Given the description of an element on the screen output the (x, y) to click on. 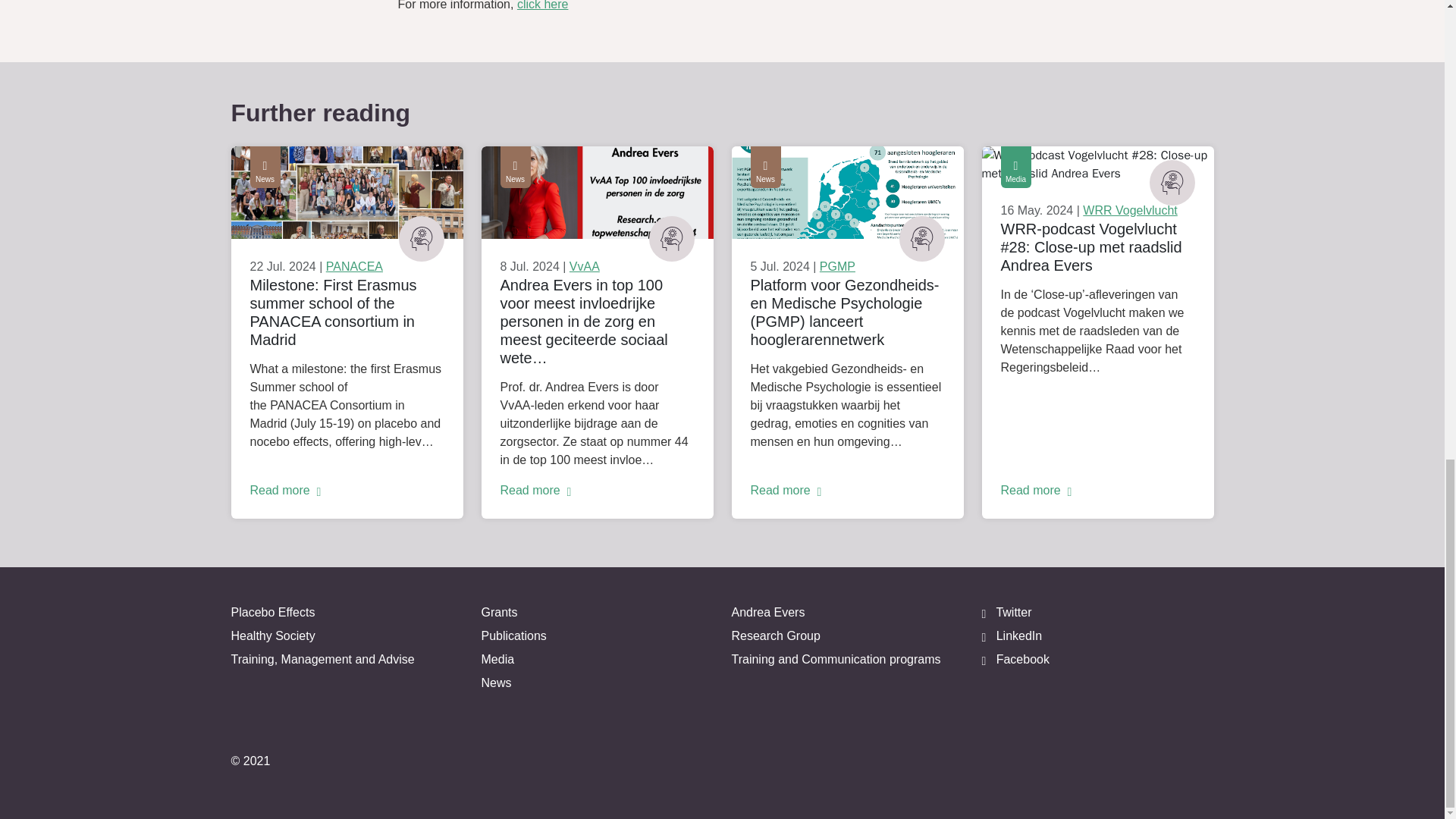
Training, Management and Advise (346, 662)
  Facebook (1096, 662)
PANACEA (354, 266)
  Twitter (1096, 615)
Grants (596, 615)
Read more   (597, 490)
Andrea Evers (846, 615)
VvAA (584, 266)
Read more   (847, 490)
Publications (596, 638)
